Given the description of an element on the screen output the (x, y) to click on. 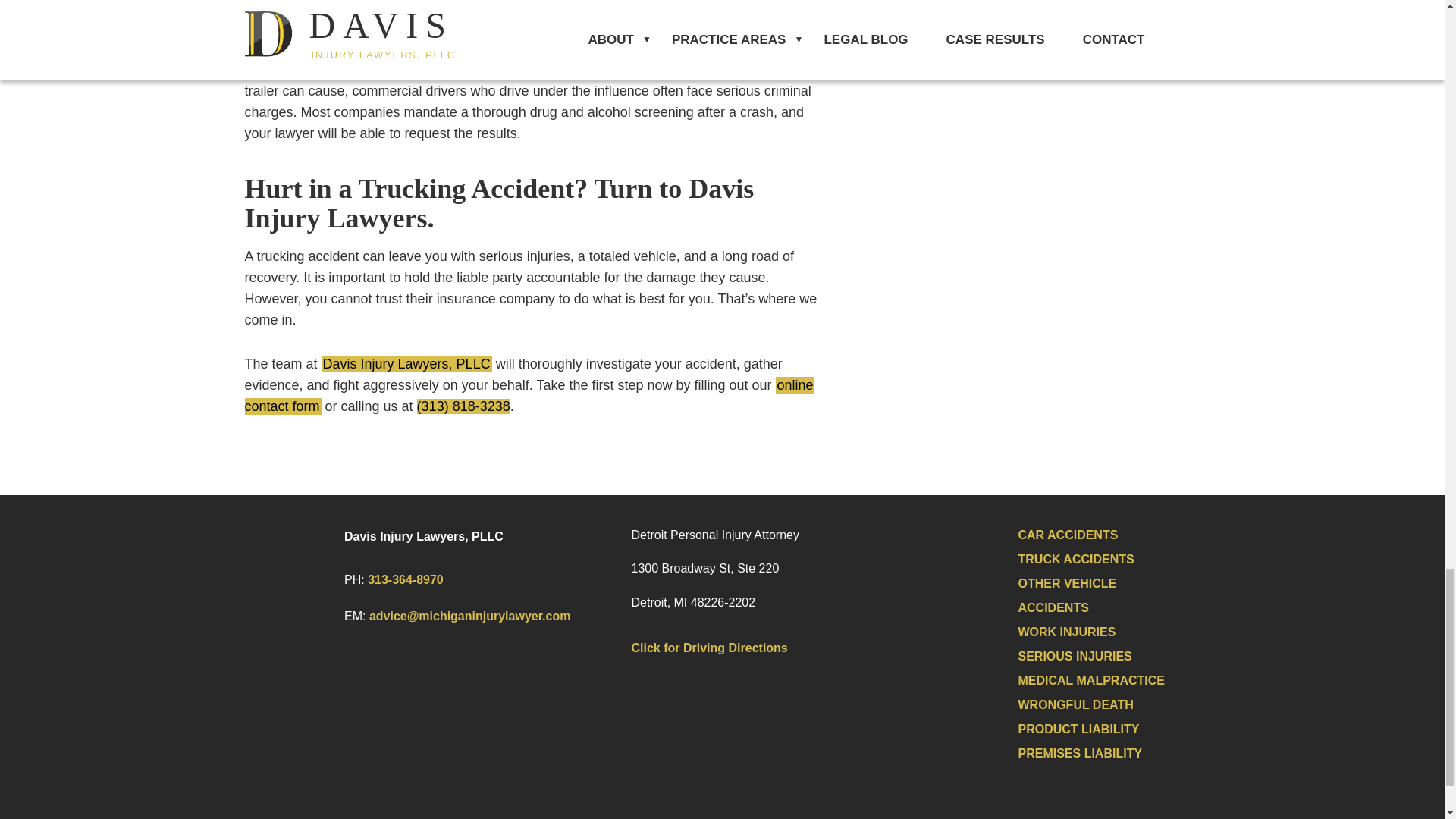
Call Davis Injury Lawyers, PLLC Today (463, 406)
About Us (406, 363)
Call Davis Personal Injury Lawyers Today (406, 579)
Email us today (469, 615)
Click for Driving Directions (713, 649)
Head to the Homepage (290, 573)
Contact Us (528, 395)
